Given the description of an element on the screen output the (x, y) to click on. 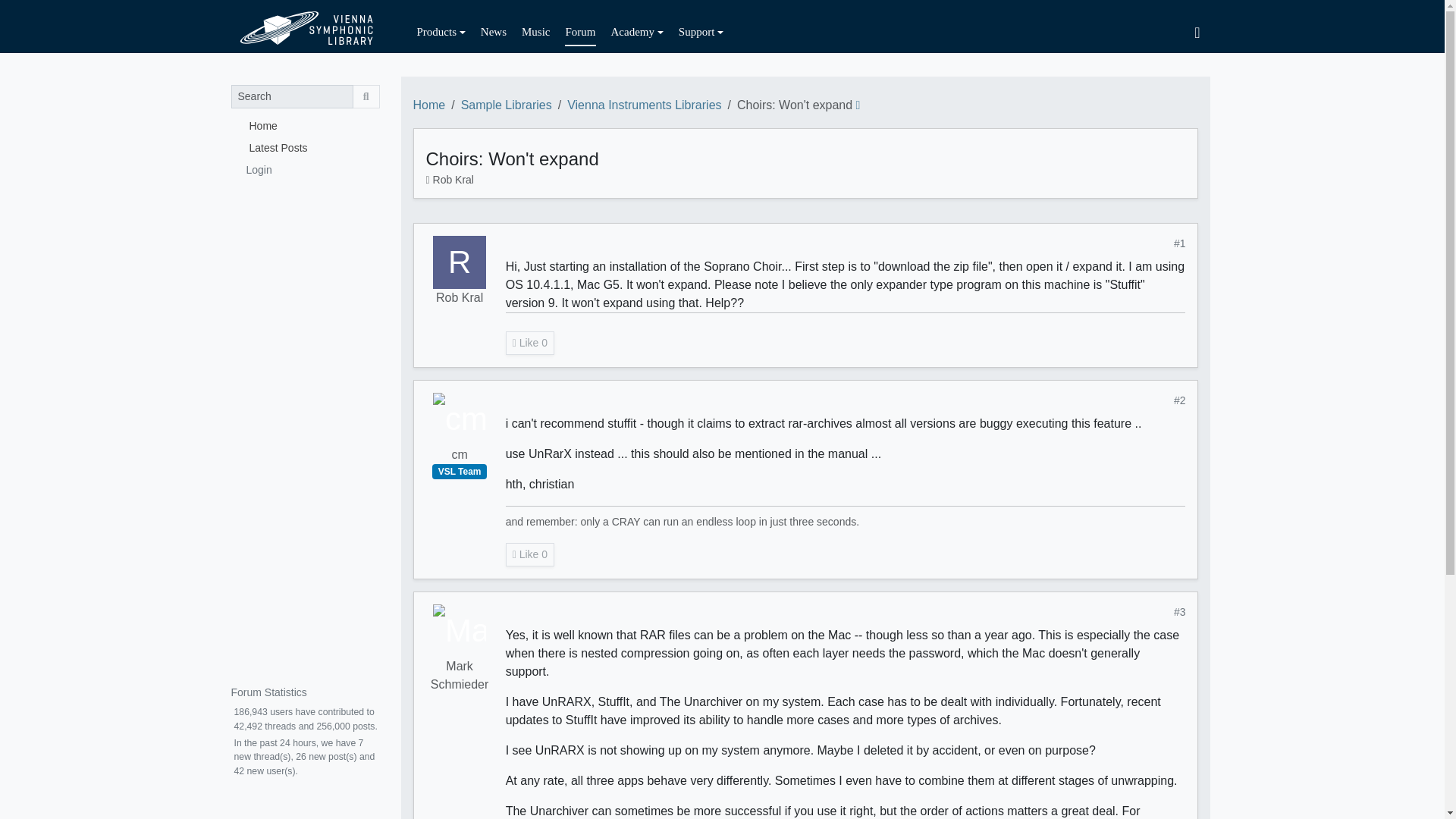
Academy (637, 32)
Latest Posts (304, 147)
News (493, 32)
Rob Kral (459, 262)
Rob Kral (453, 179)
Products (441, 32)
Rob Kral (459, 298)
Music (535, 32)
Forum (579, 32)
cm (459, 419)
